Given the description of an element on the screen output the (x, y) to click on. 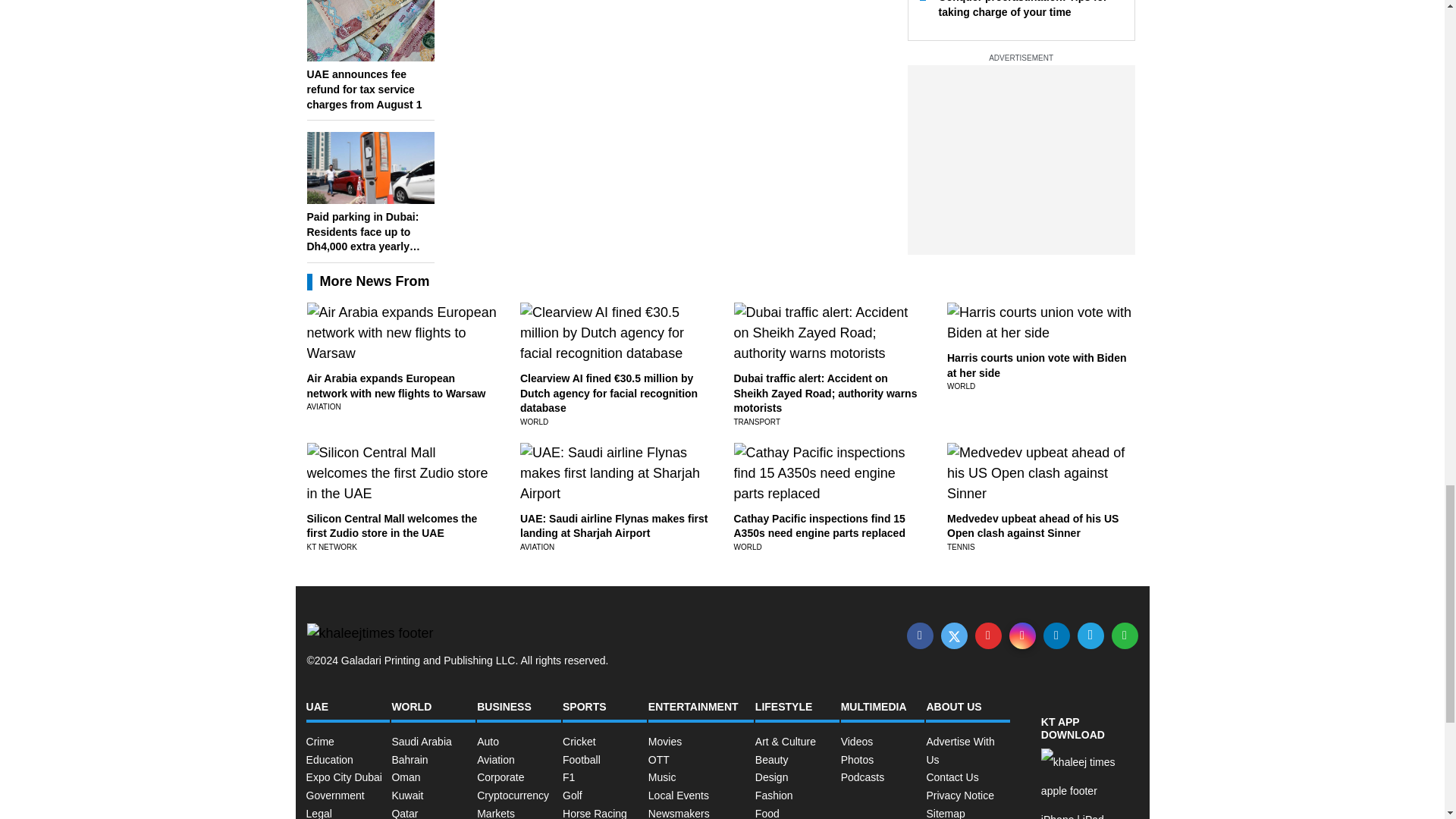
Medvedev upbeat ahead of his US Open clash against Sinner (1032, 525)
Harris courts union vote with Biden at her side (1036, 365)
